Given the description of an element on the screen output the (x, y) to click on. 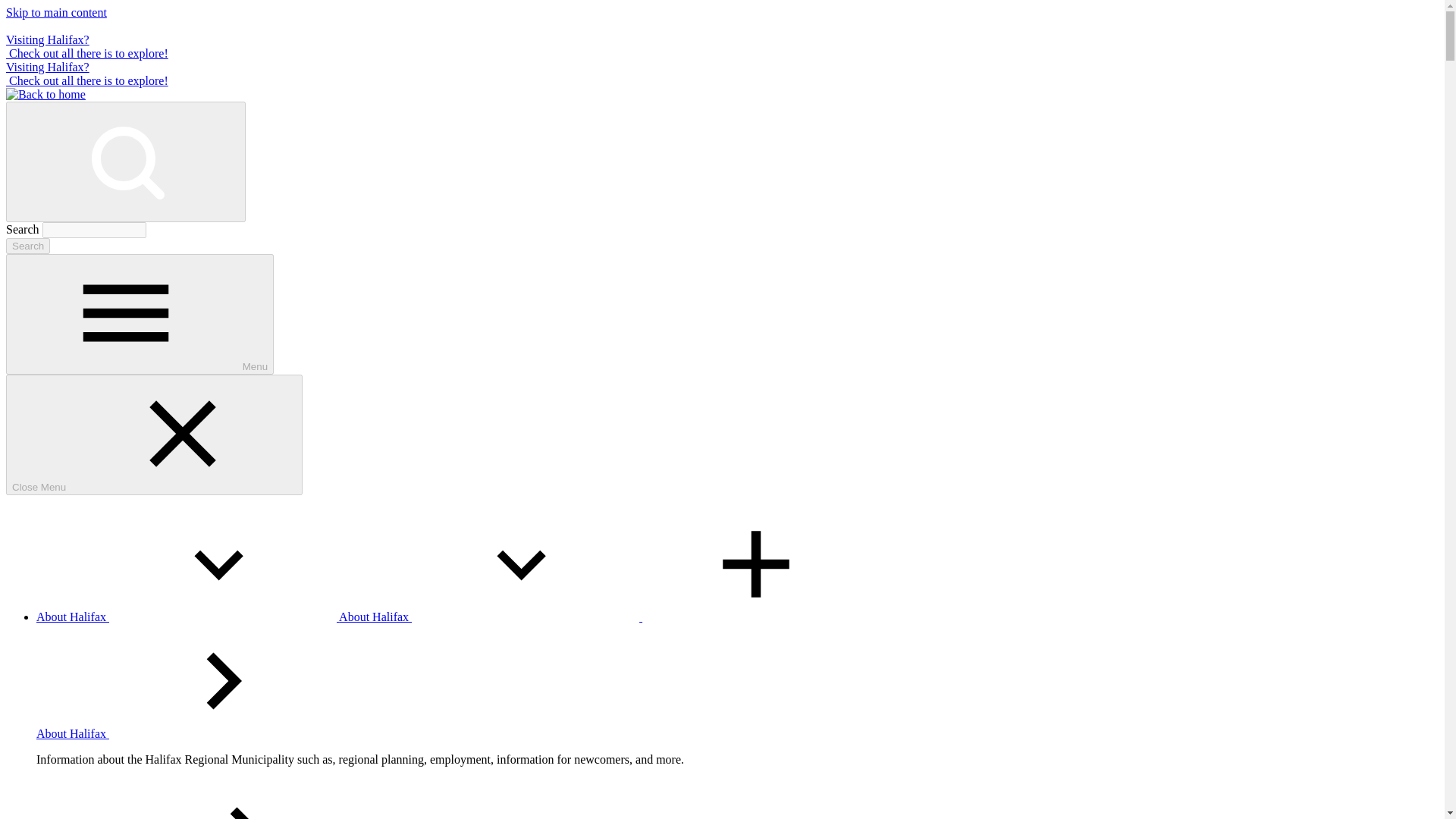
Menu (139, 313)
Search (27, 245)
Close Menu (153, 434)
About Halifax (490, 616)
About Halifax (186, 733)
About Halifax (187, 616)
Enter the terms you wish to search for. (94, 229)
Back to home (45, 93)
Skip to main content (55, 11)
Search (27, 245)
